Given the description of an element on the screen output the (x, y) to click on. 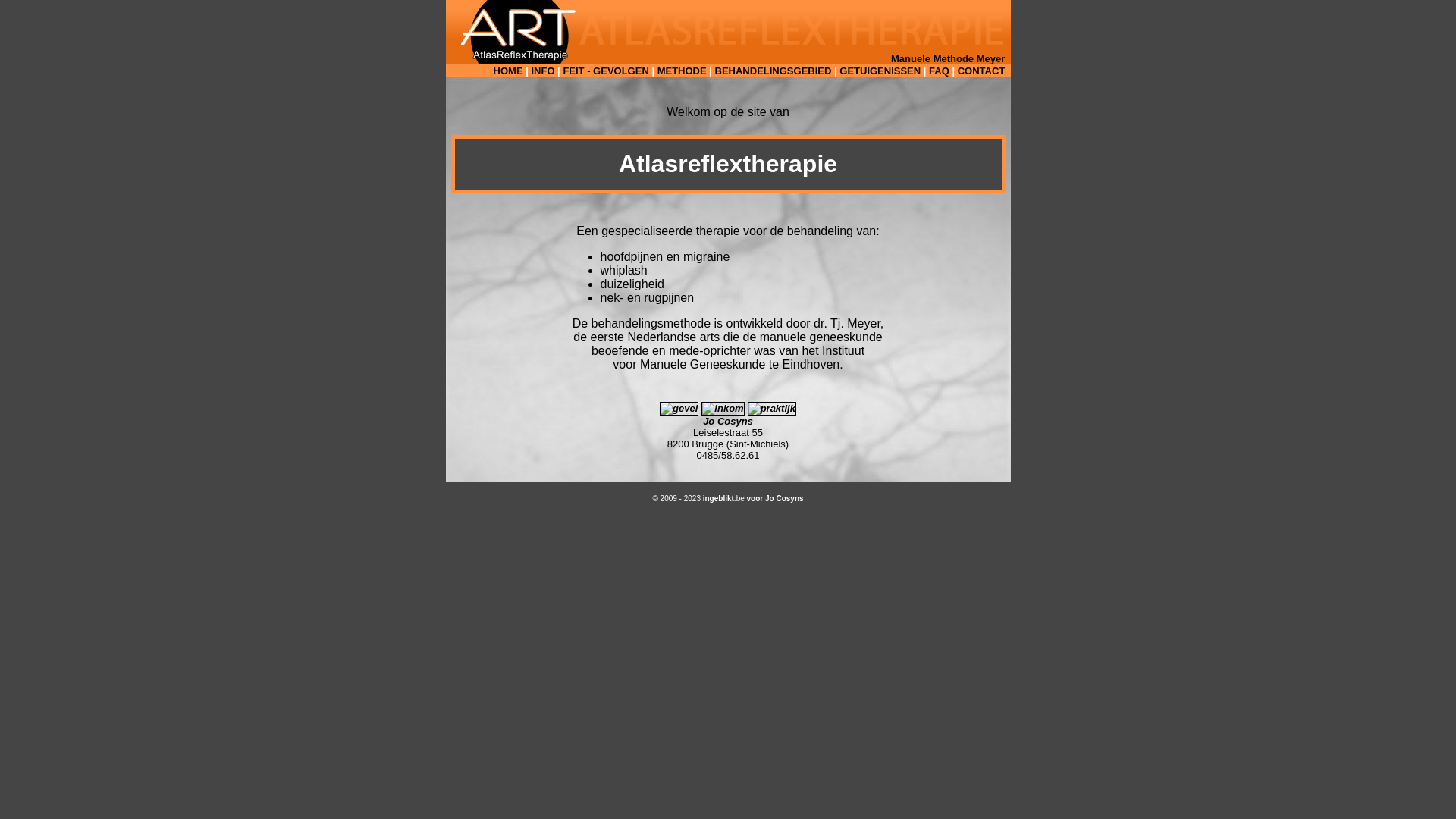
FAQ Element type: text (938, 70)
METHODE Element type: text (681, 70)
ingeblikt.be Element type: text (723, 498)
CONTACT Element type: text (981, 70)
HOME Element type: text (508, 70)
FEIT - GEVOLGEN Element type: text (605, 70)
GETUIGENISSEN Element type: text (879, 70)
BEHANDELINGSGEBIED Element type: text (773, 70)
INFO Element type: text (542, 70)
